Given the description of an element on the screen output the (x, y) to click on. 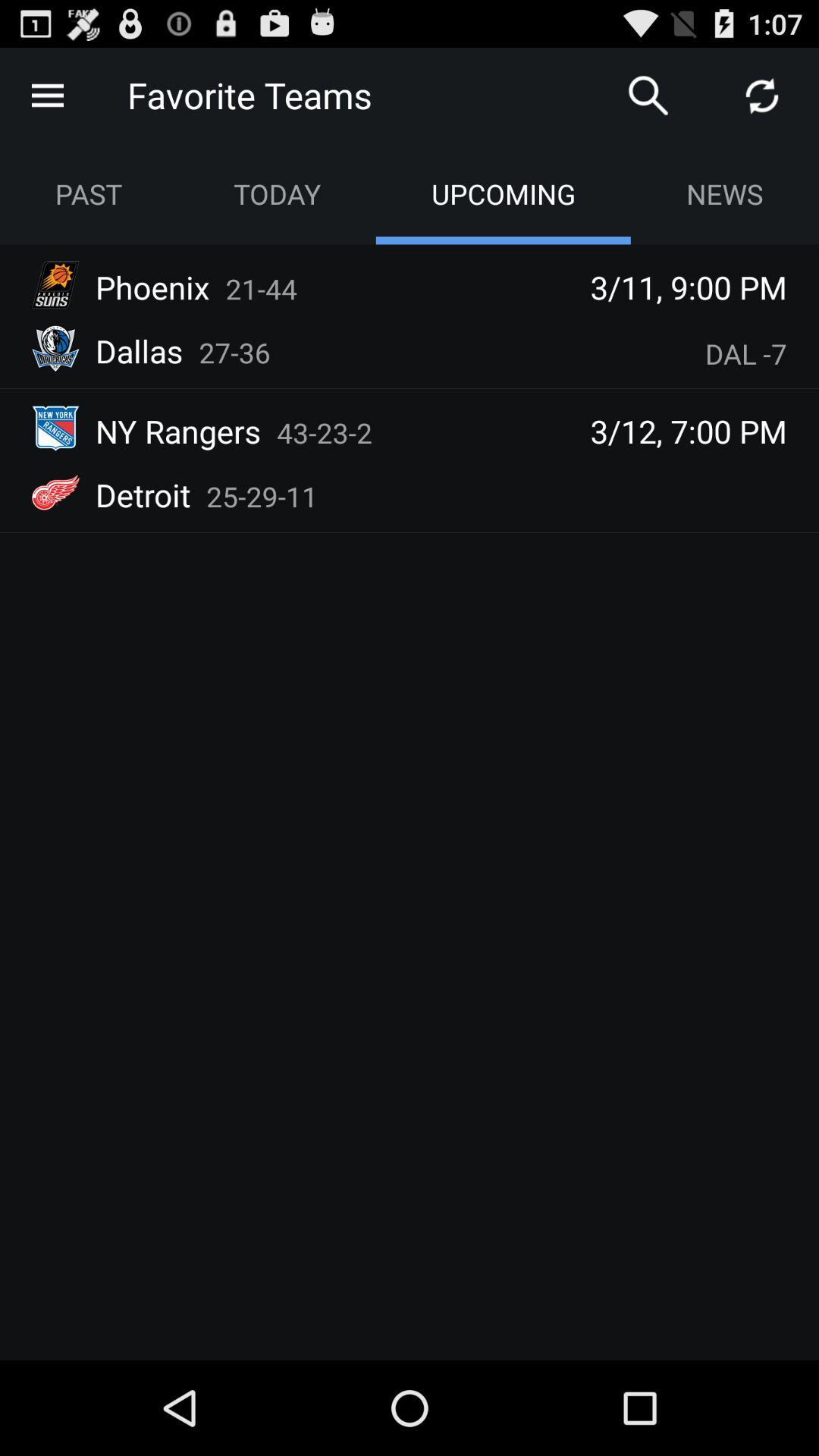
select icon to the right of the upcoming (724, 193)
